Given the description of an element on the screen output the (x, y) to click on. 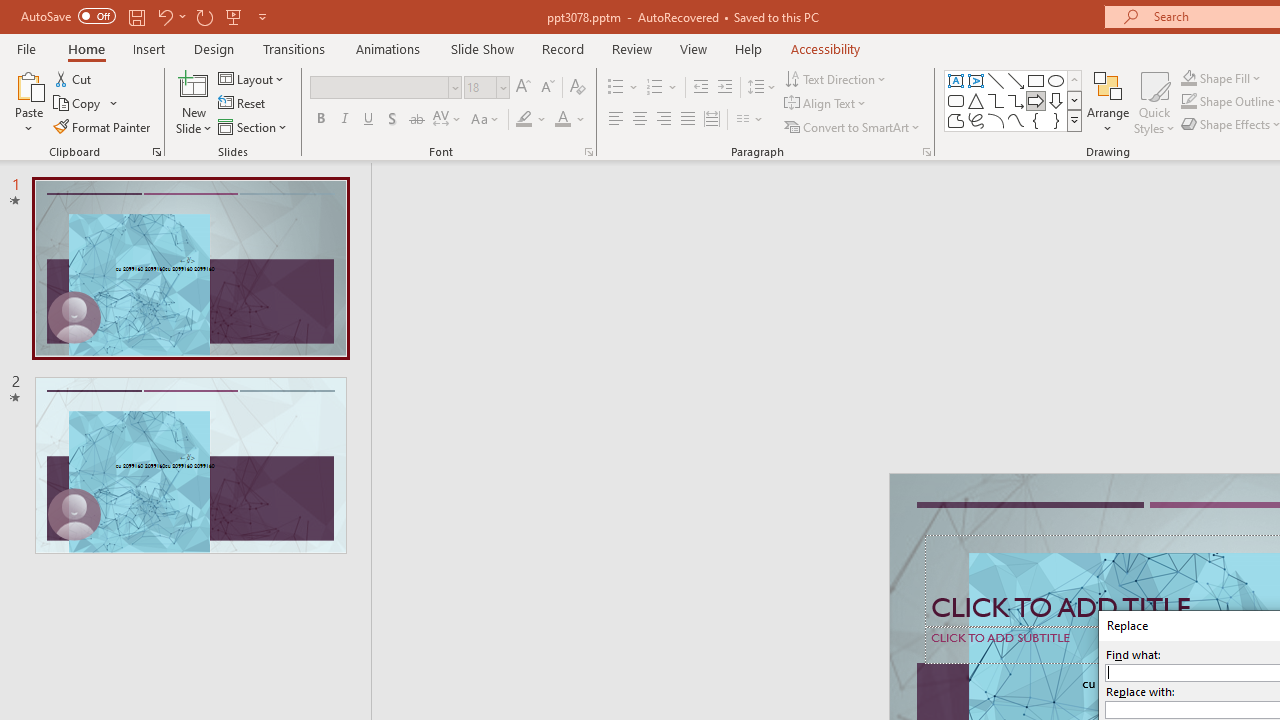
Isosceles Triangle (975, 100)
Curve (1016, 120)
Distributed (712, 119)
Shape Outline Green, Accent 1 (1188, 101)
Line (995, 80)
Decrease Font Size (547, 87)
